Given the description of an element on the screen output the (x, y) to click on. 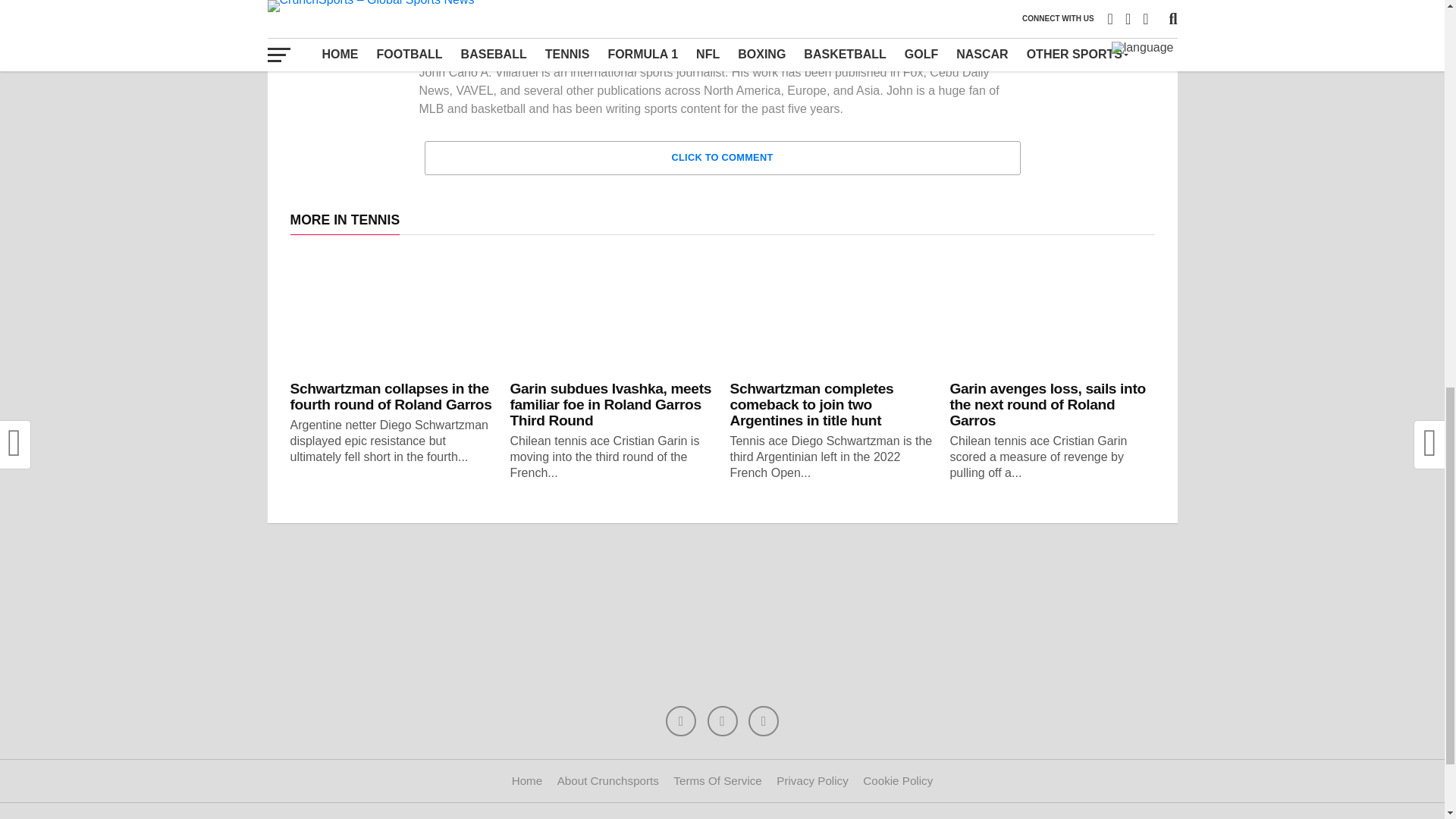
Posts by John Carlo A. Villaruel (550, 20)
